Given the description of an element on the screen output the (x, y) to click on. 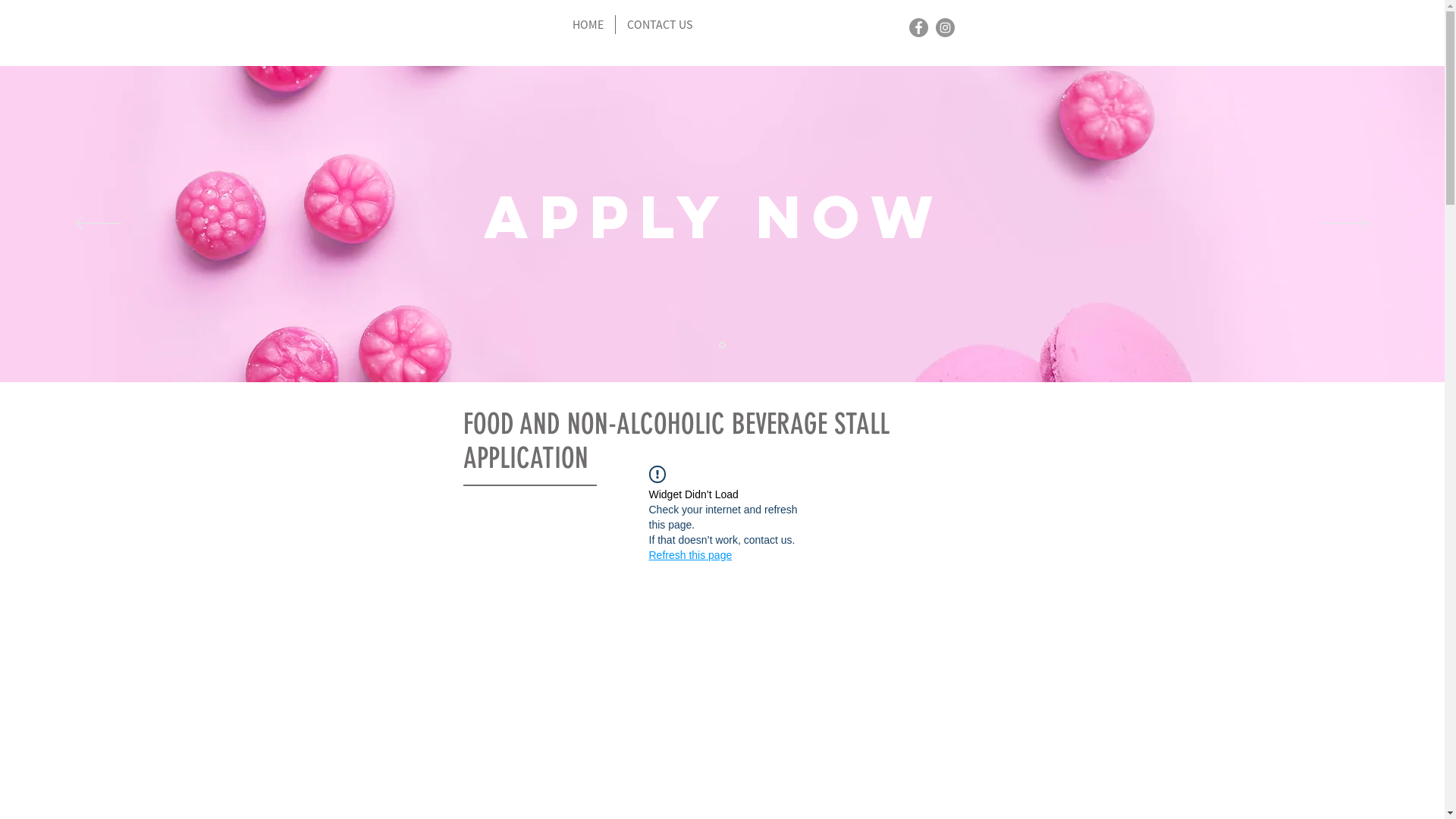
Refresh this page Element type: text (690, 554)
HOME Element type: text (588, 24)
CONTACT US Element type: text (659, 24)
